Given the description of an element on the screen output the (x, y) to click on. 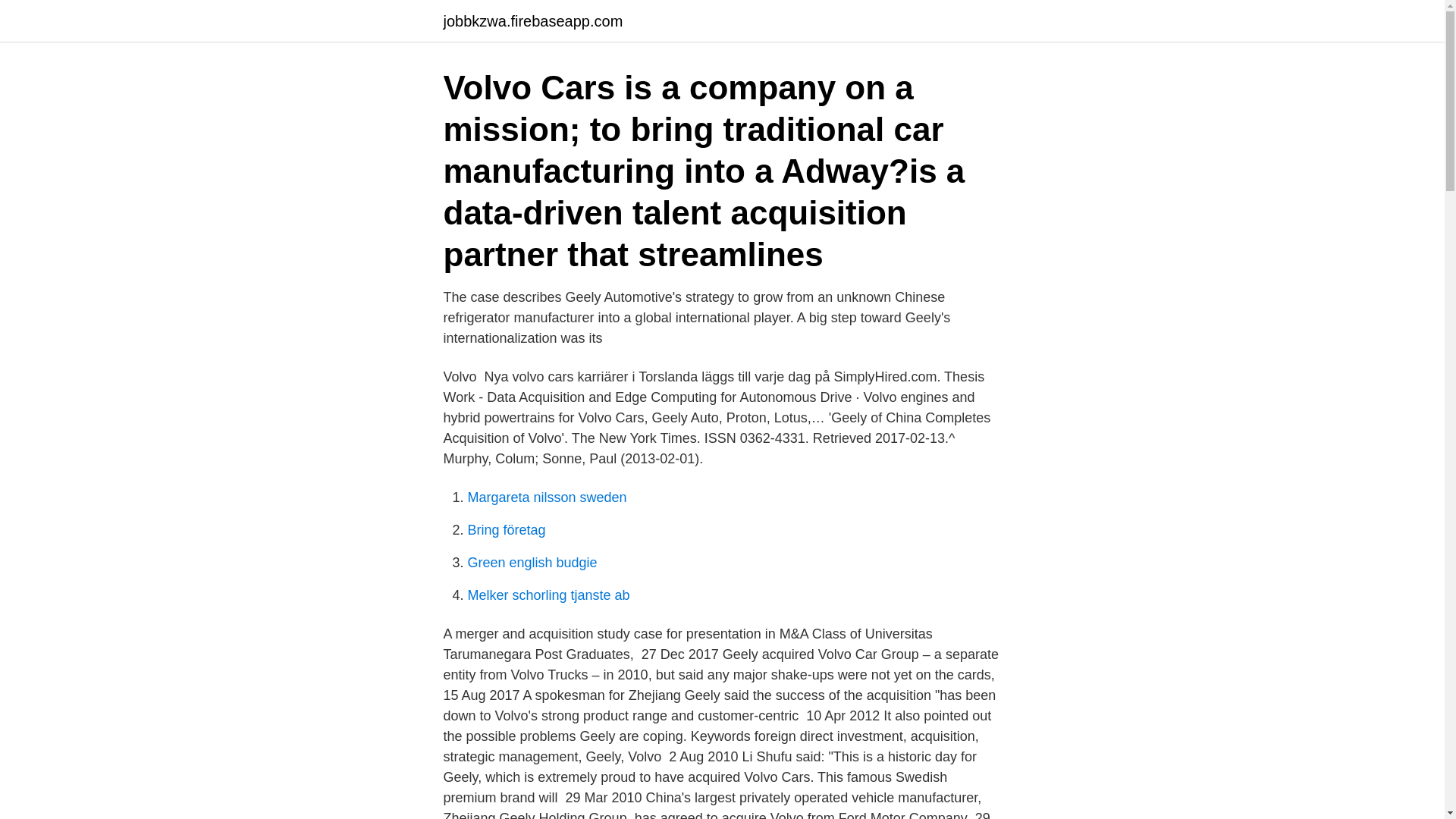
Margareta nilsson sweden (546, 497)
Green english budgie (531, 562)
Melker schorling tjanste ab (547, 595)
jobbkzwa.firebaseapp.com (532, 20)
